Given the description of an element on the screen output the (x, y) to click on. 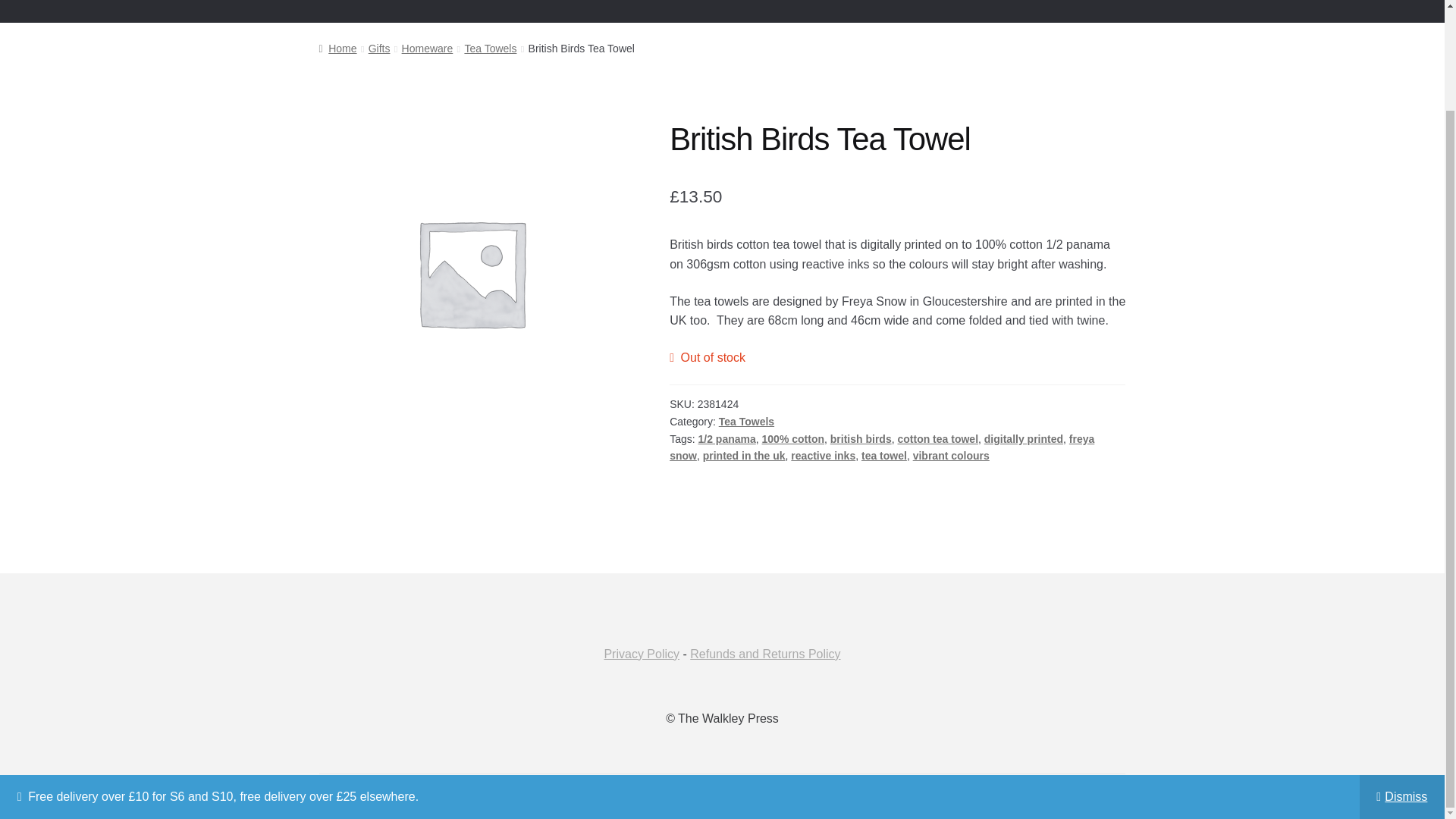
Home (335, 11)
View your shopping basket (1037, 11)
Cards (403, 11)
